Given the description of an element on the screen output the (x, y) to click on. 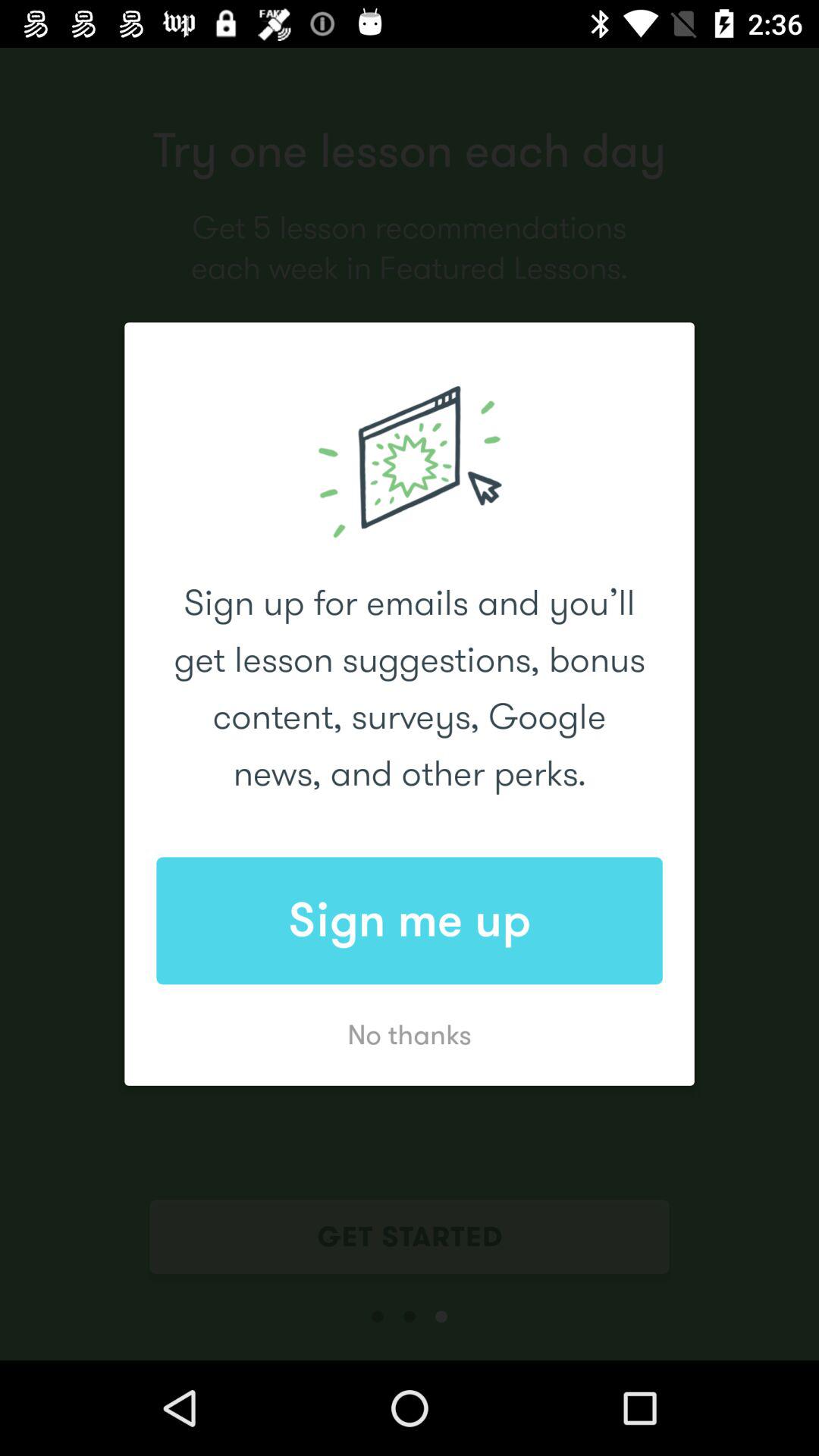
launch app below the sign me up app (409, 1034)
